Given the description of an element on the screen output the (x, y) to click on. 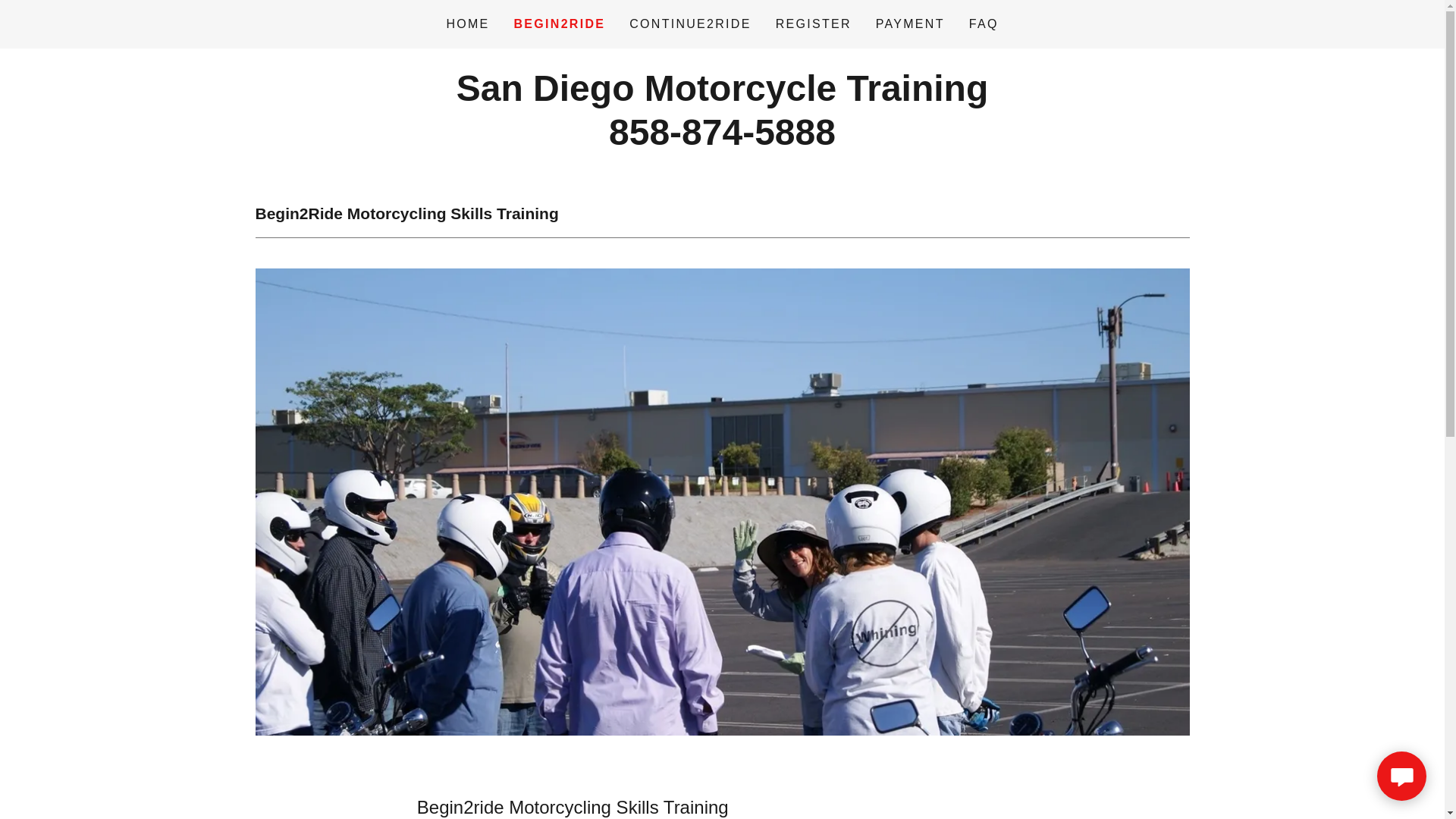
PAYMENT (909, 23)
CONTINUE2RIDE (689, 23)
BEGIN2RIDE (722, 140)
FAQ (559, 24)
REGISTER (983, 23)
HOME (722, 140)
